Given the description of an element on the screen output the (x, y) to click on. 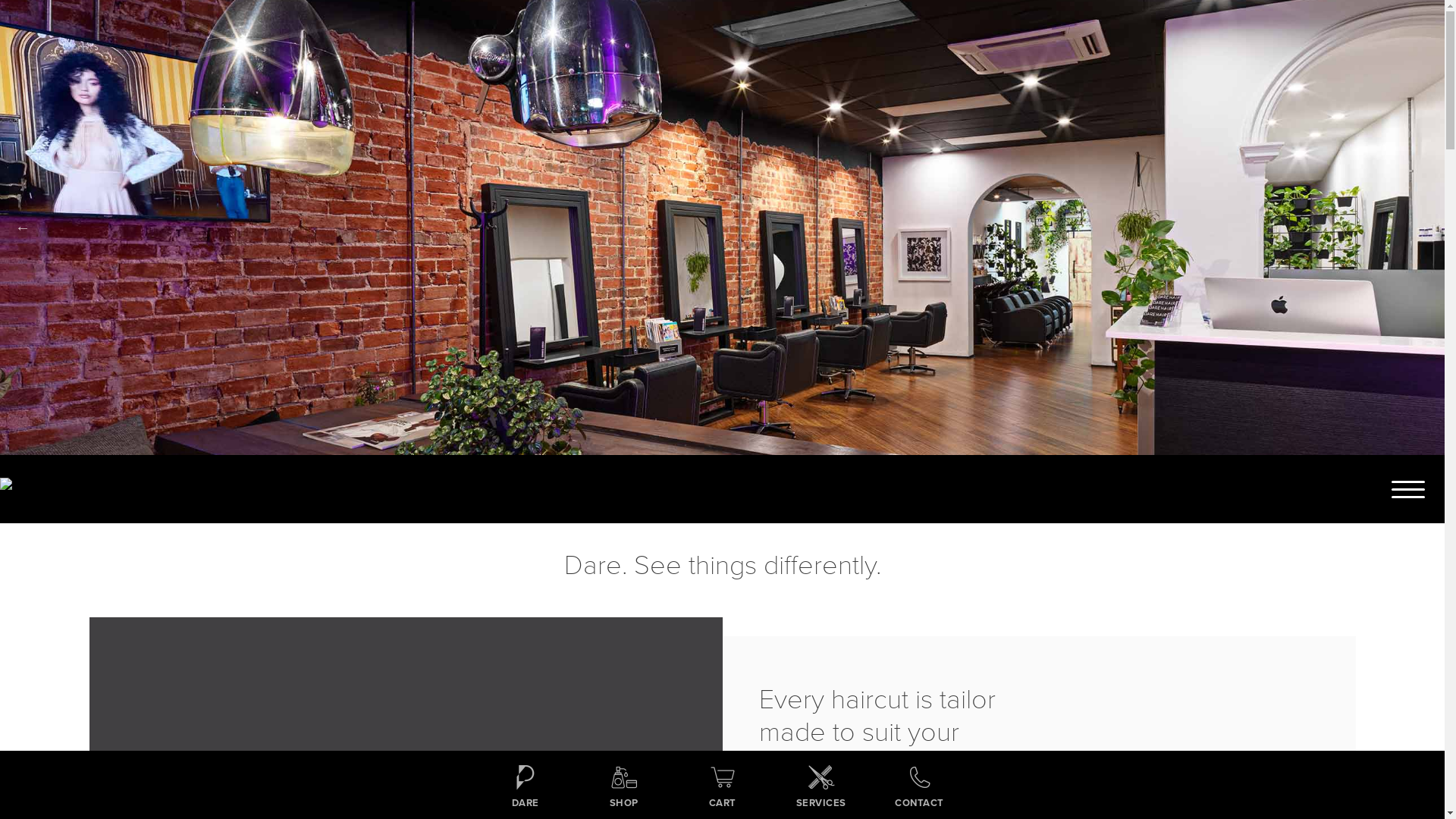
Previous Element type: text (22, 227)
Next Element type: text (1421, 227)
